Given the description of an element on the screen output the (x, y) to click on. 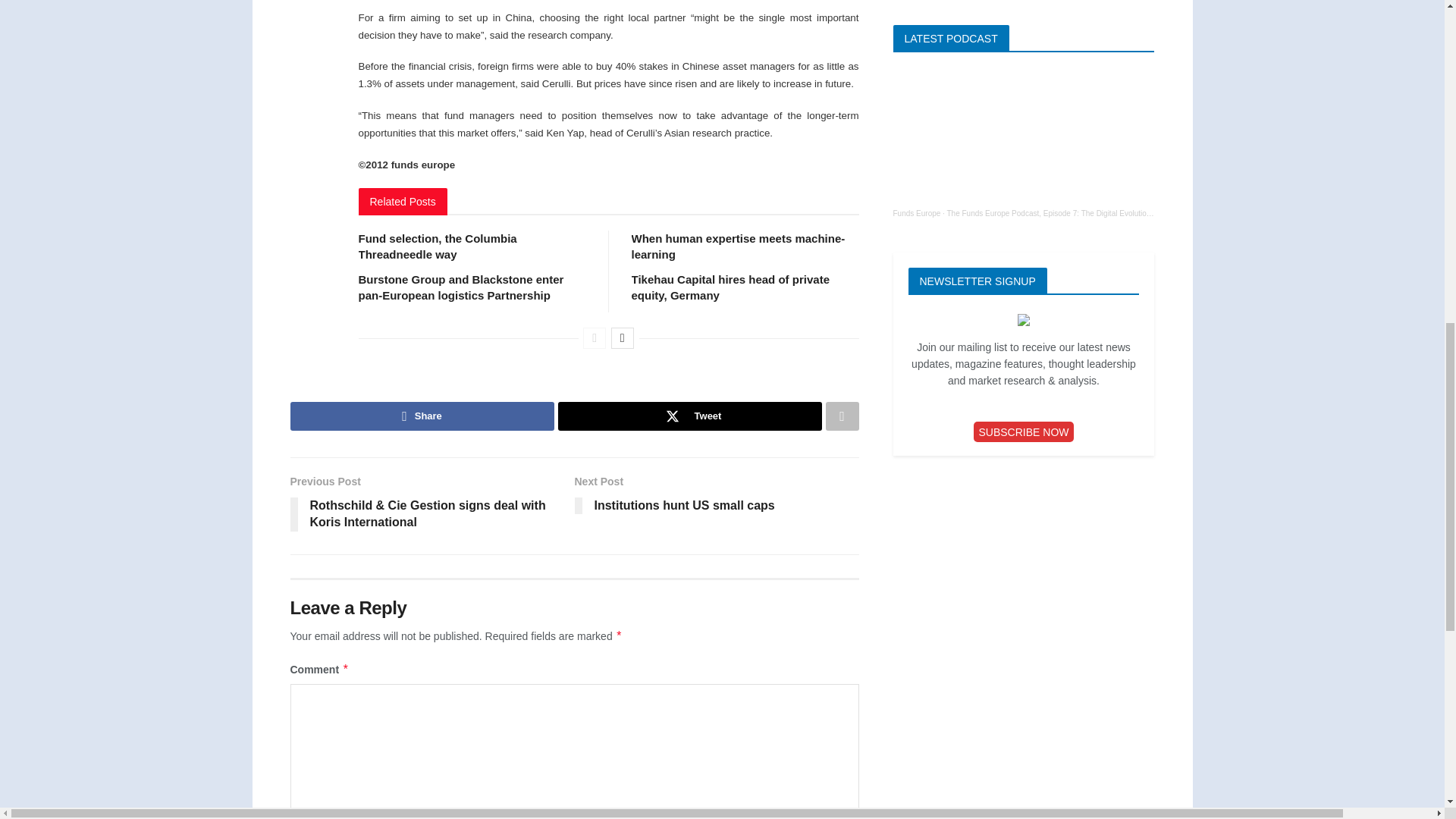
Next (622, 337)
Funds Europe (916, 213)
Previous (594, 337)
